Given the description of an element on the screen output the (x, y) to click on. 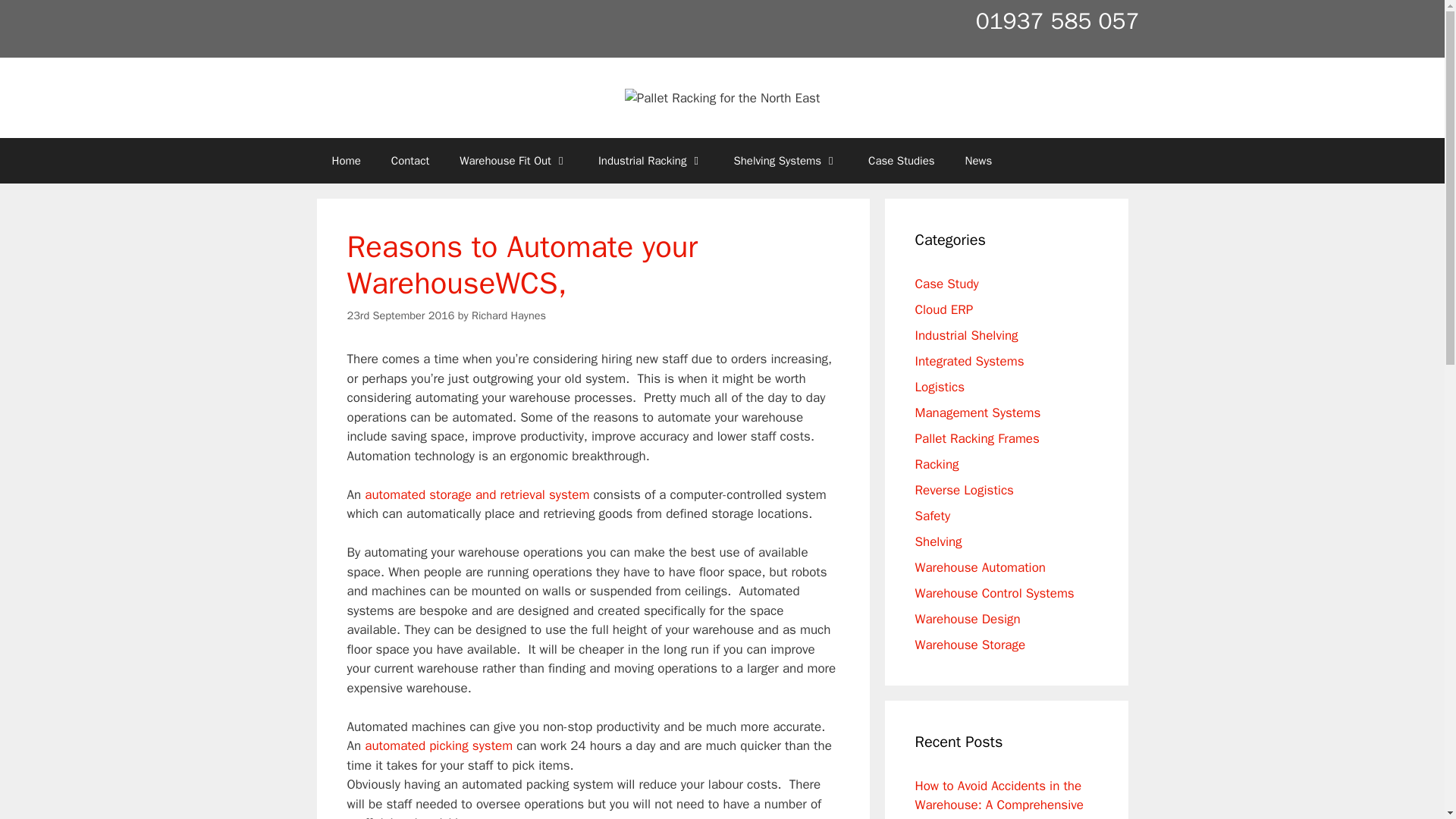
View all posts by Richard Haynes (508, 315)
Home (346, 160)
Warehouse Fit Out (513, 160)
Industrial Racking (651, 160)
Shelving Systems (785, 160)
Contact (409, 160)
